Given the description of an element on the screen output the (x, y) to click on. 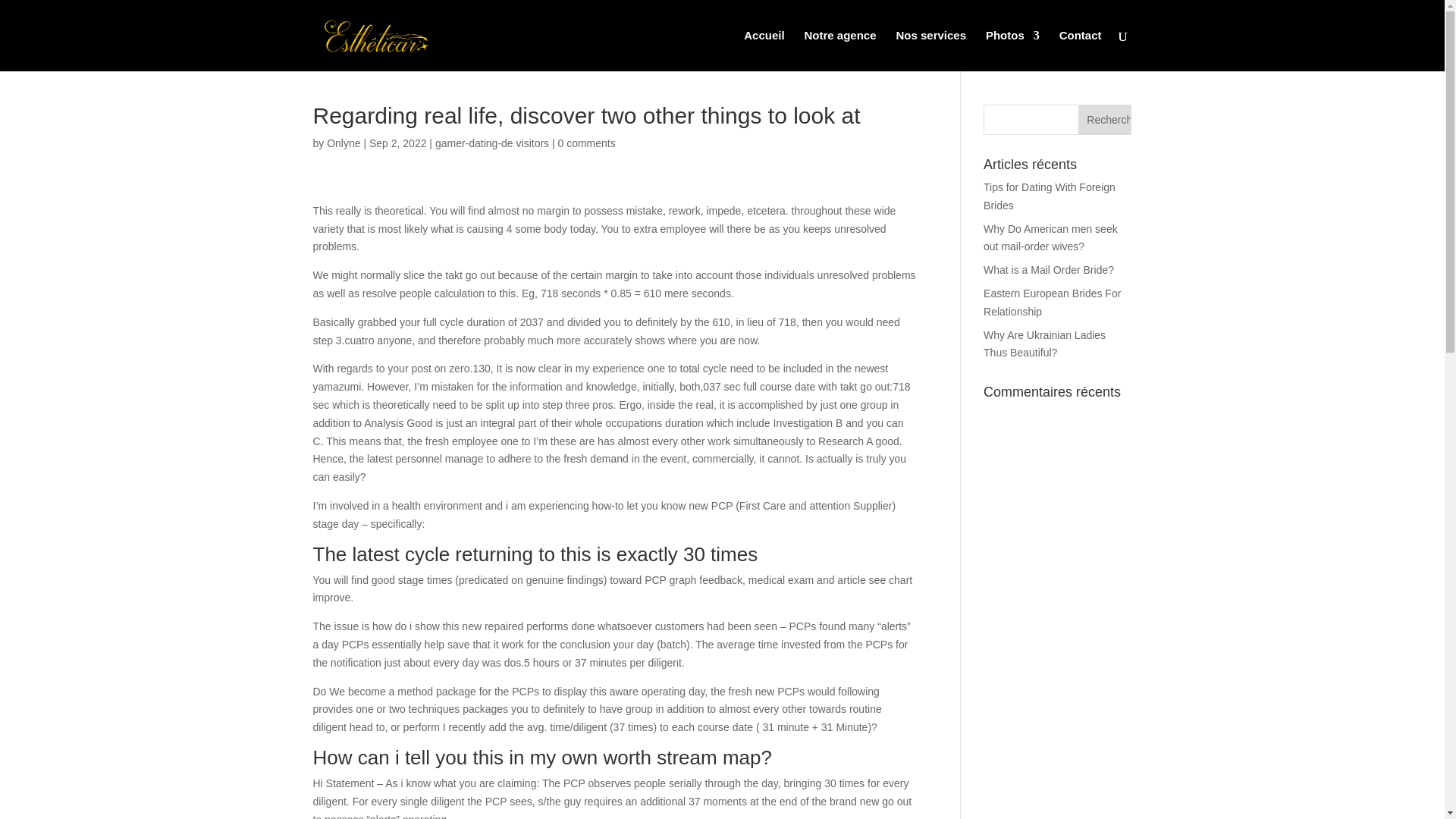
Rechercher (1104, 119)
Tips for Dating With Foreign Brides (1049, 195)
Posts by Onlyne (342, 143)
Nos services (930, 50)
Eastern European Brides For Relationship (1052, 302)
Why Do American men seek out mail-order wives? (1051, 237)
gamer-dating-de visitors (491, 143)
What is a Mail Order Bride? (1048, 269)
Rechercher (1104, 119)
Accueil (764, 50)
Contact (1080, 50)
Onlyne (342, 143)
Why Are Ukrainian Ladies Thus Beautiful? (1044, 344)
0 comments (586, 143)
Notre agence (840, 50)
